Given the description of an element on the screen output the (x, y) to click on. 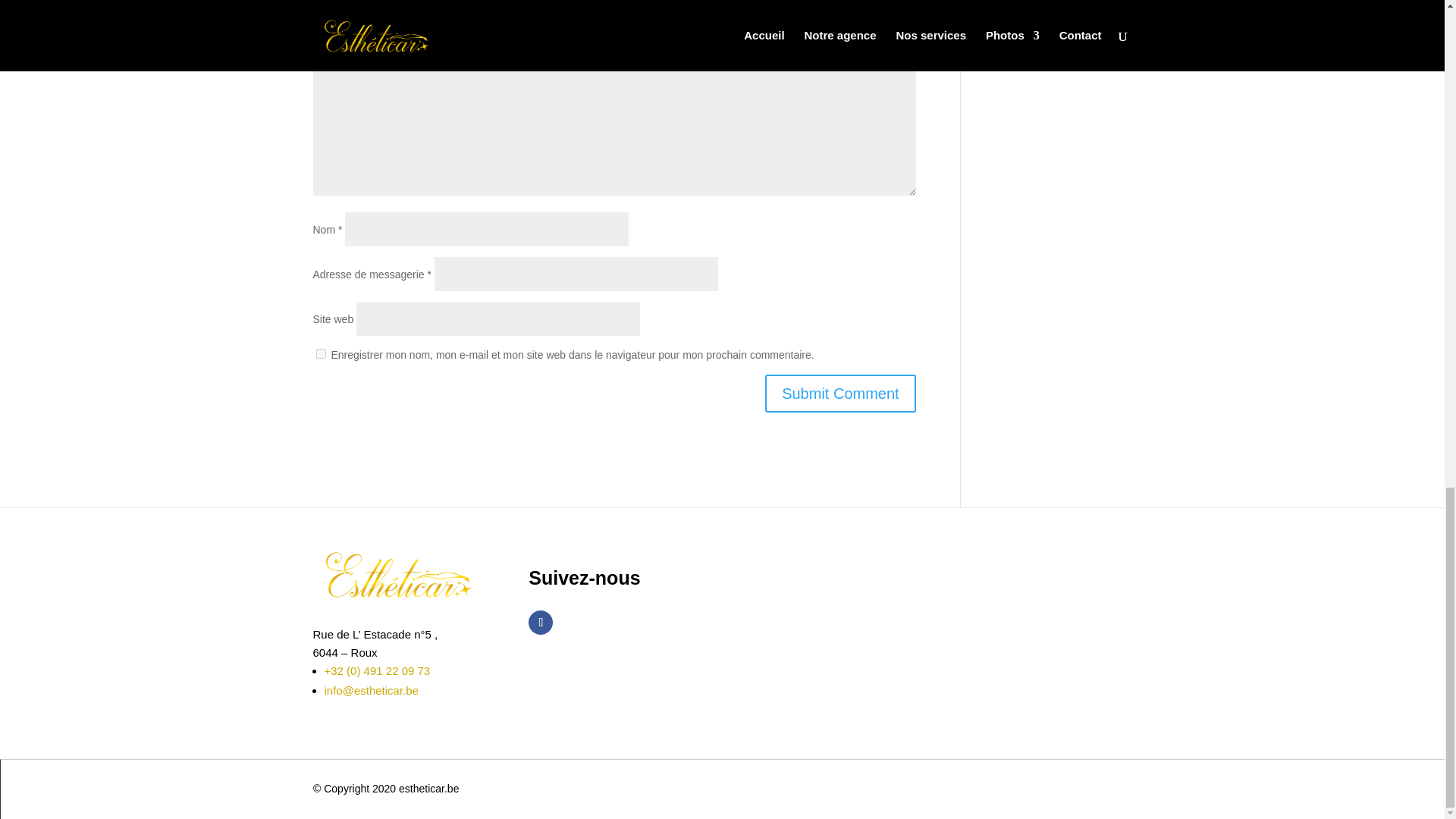
Follow on Facebook (540, 622)
yes (319, 353)
Submit Comment (840, 393)
Submit Comment (840, 393)
estheti-will-p (398, 574)
